Given the description of an element on the screen output the (x, y) to click on. 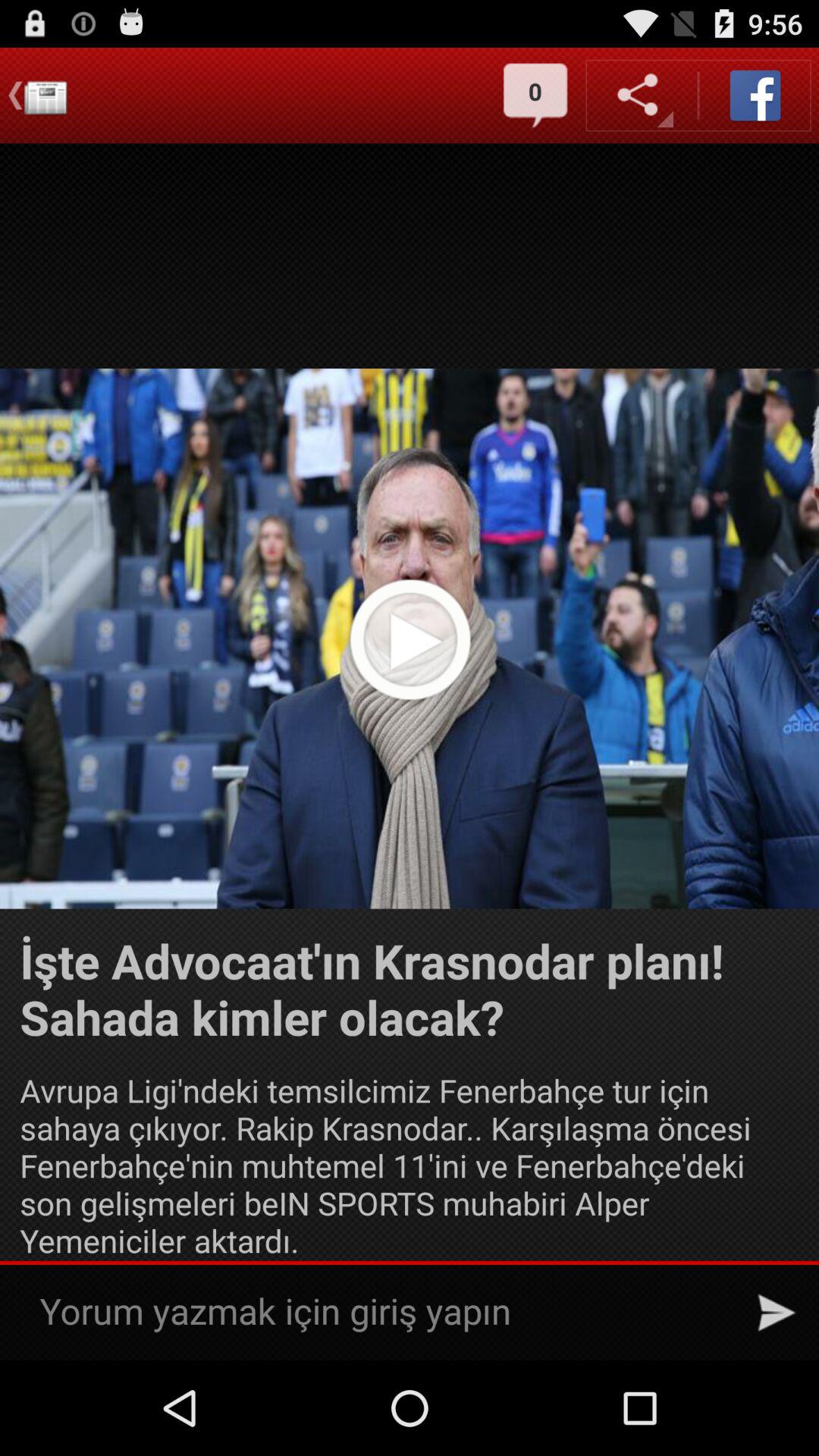
jump to avrupa ligi ndeki icon (409, 1164)
